Given the description of an element on the screen output the (x, y) to click on. 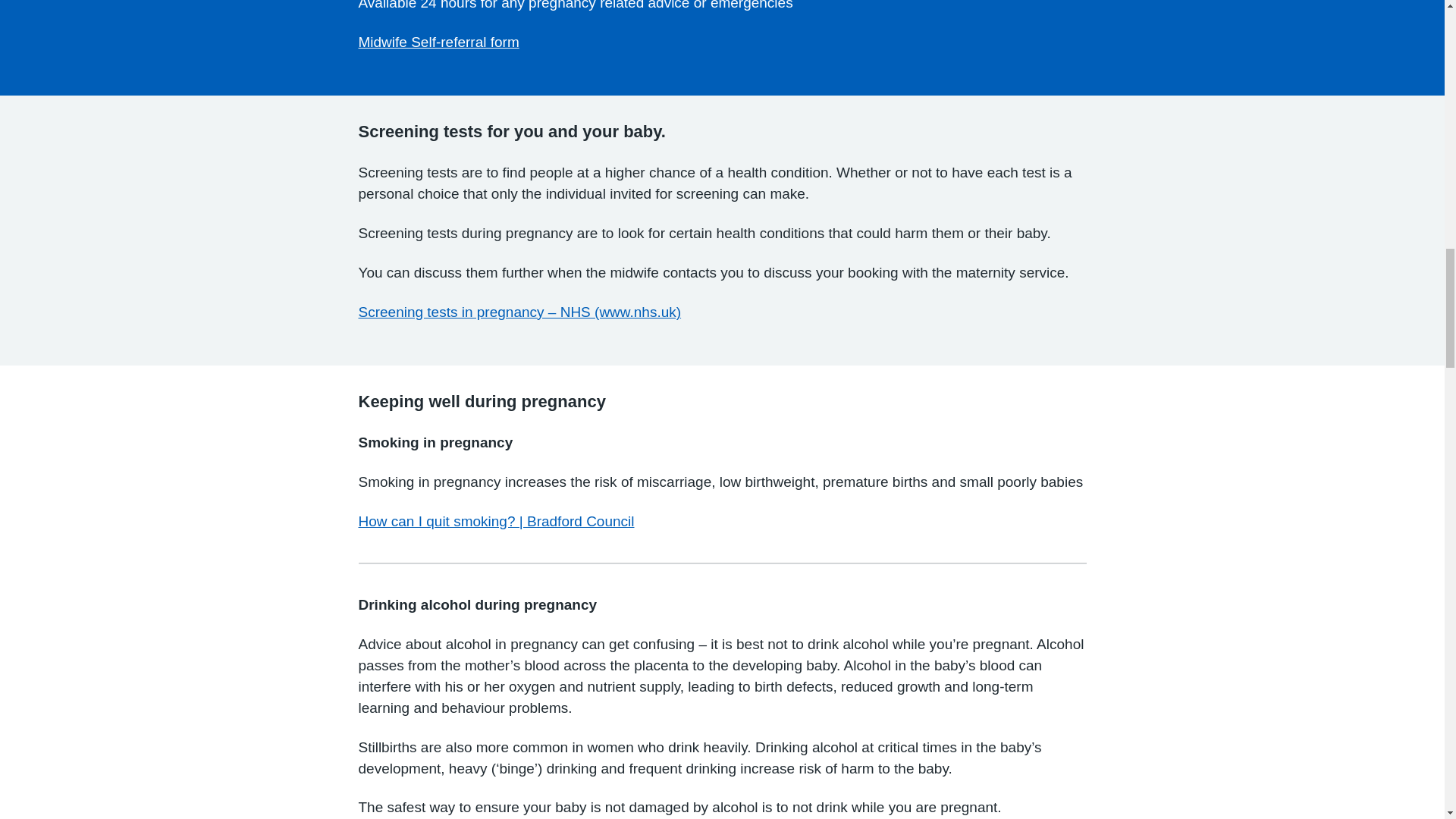
Midwife Self-referral form (438, 41)
